Given the description of an element on the screen output the (x, y) to click on. 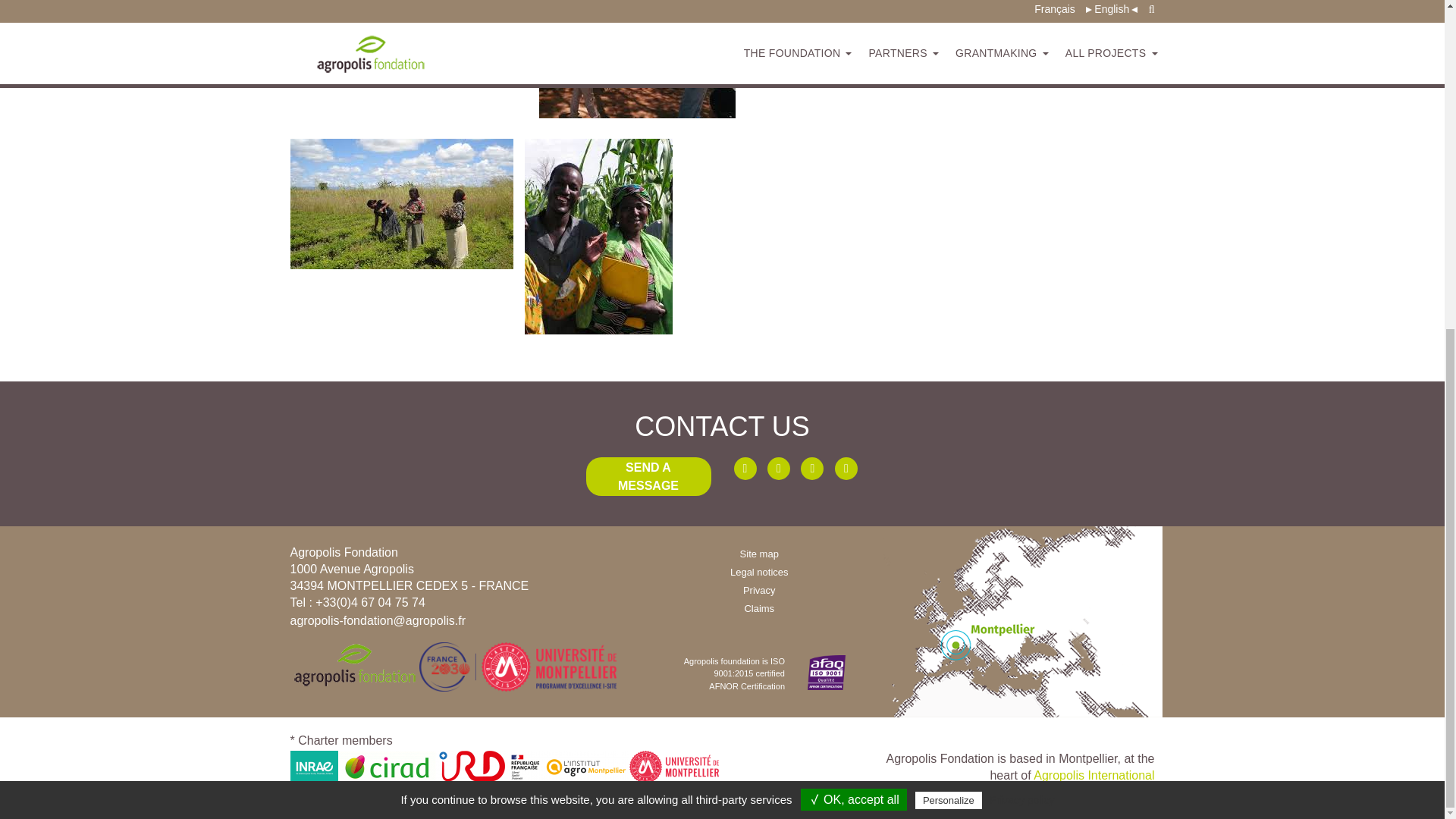
SEND A MESSAGE (647, 485)
SEND A MESSAGE (647, 476)
Site map (758, 553)
Legal notices (759, 572)
